Given the description of an element on the screen output the (x, y) to click on. 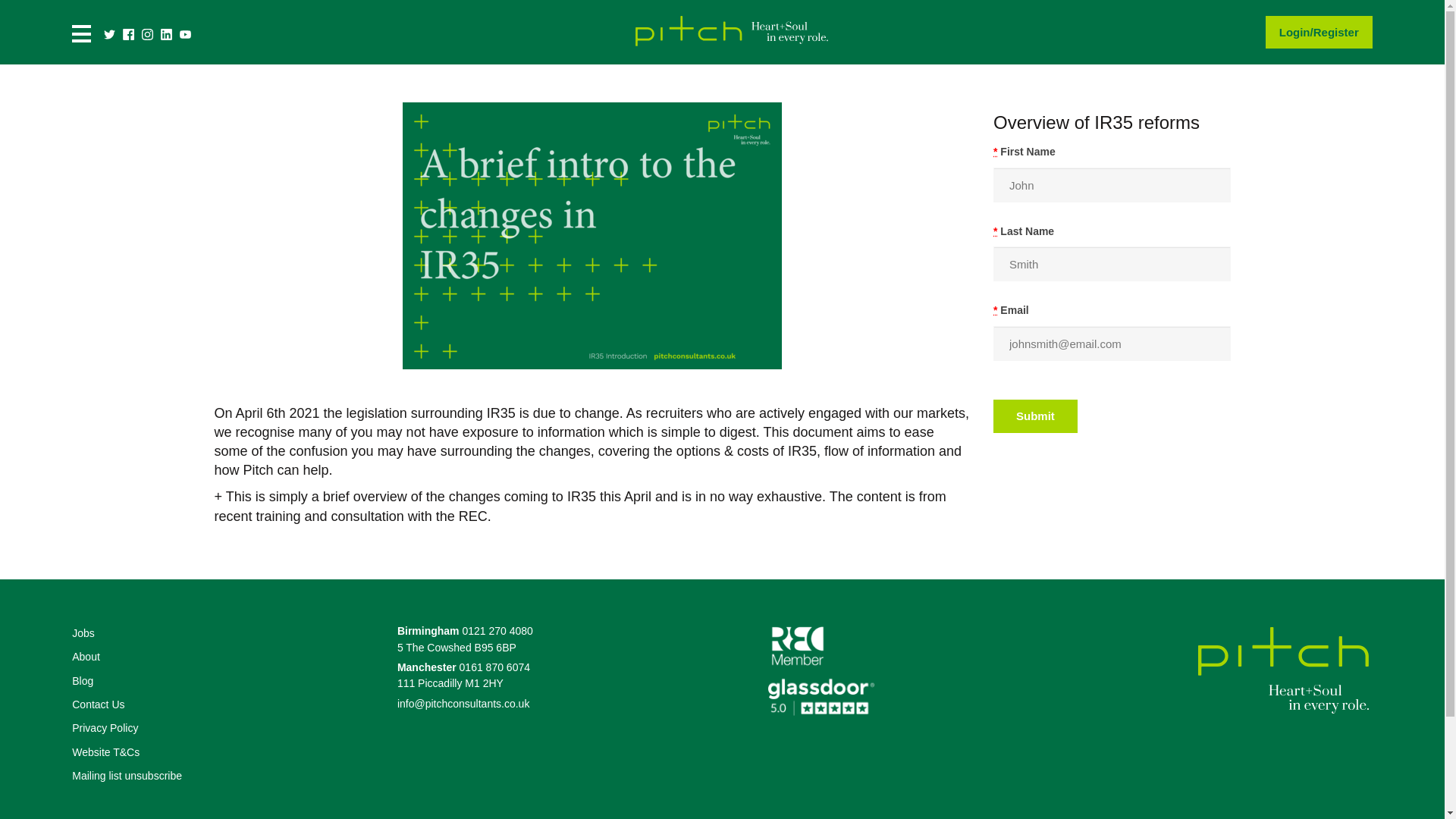
Login (1294, 31)
Jobs (82, 633)
Register (1335, 31)
About (85, 656)
Go to the Homepage (729, 48)
Submit (1034, 416)
Blog (82, 680)
Submit (1034, 416)
Contact Us (97, 704)
Go to the Homepage (1283, 671)
